Given the description of an element on the screen output the (x, y) to click on. 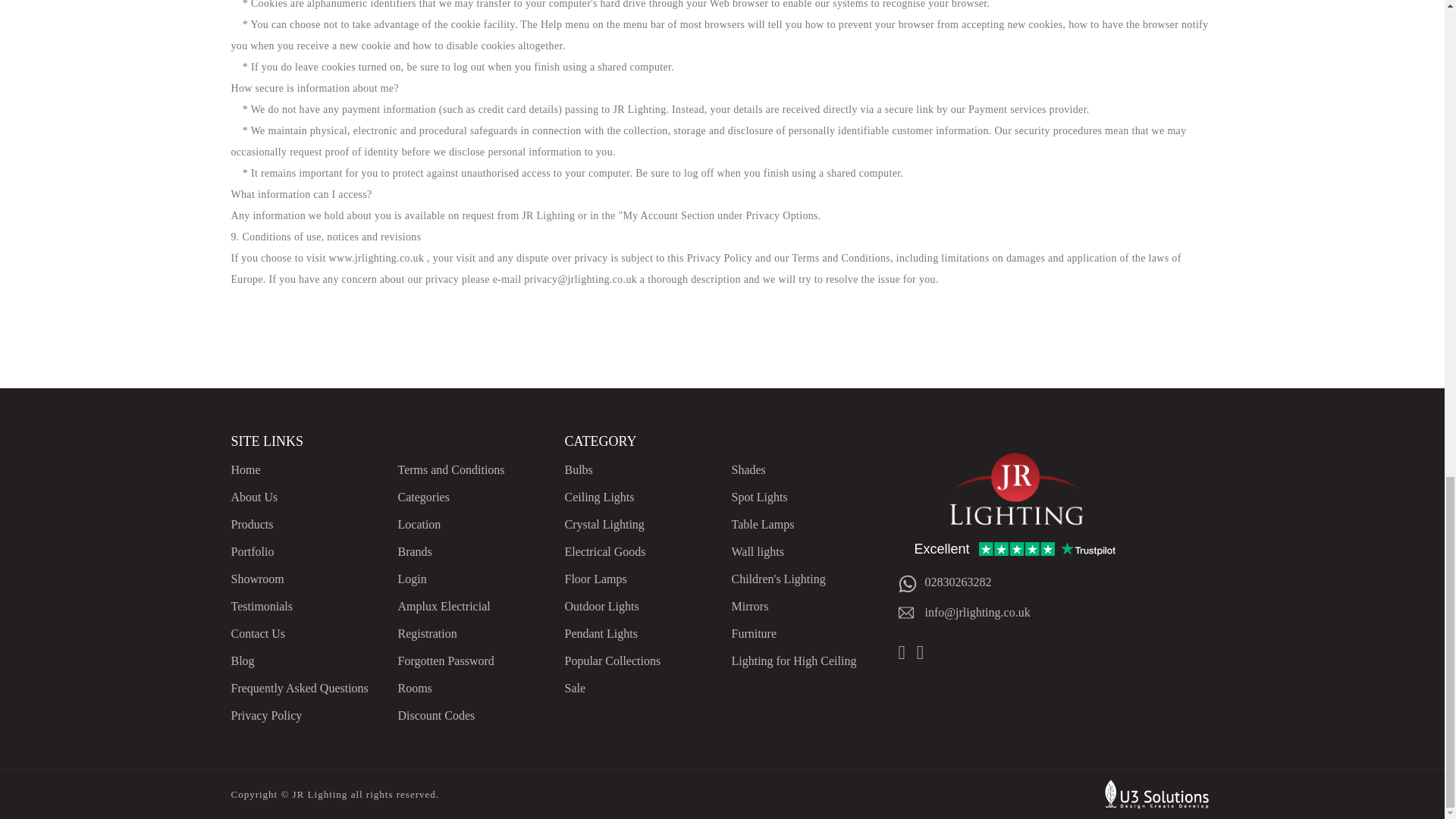
Customer reviews powered by Trustpilot (1013, 548)
